Given the description of an element on the screen output the (x, y) to click on. 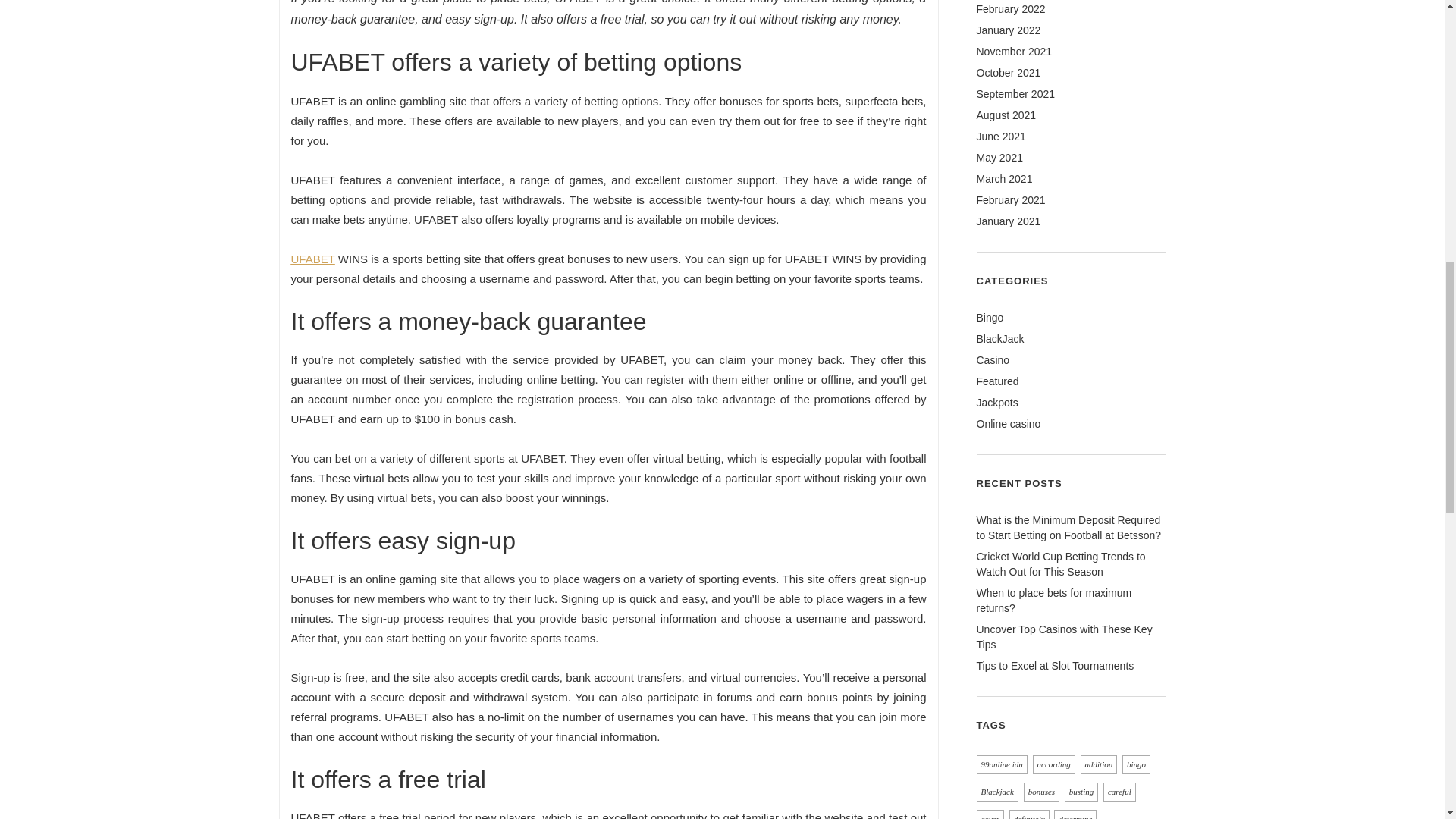
January 2022 (1008, 30)
November 2021 (1014, 51)
UFABET (312, 258)
February 2022 (1010, 9)
